Given the description of an element on the screen output the (x, y) to click on. 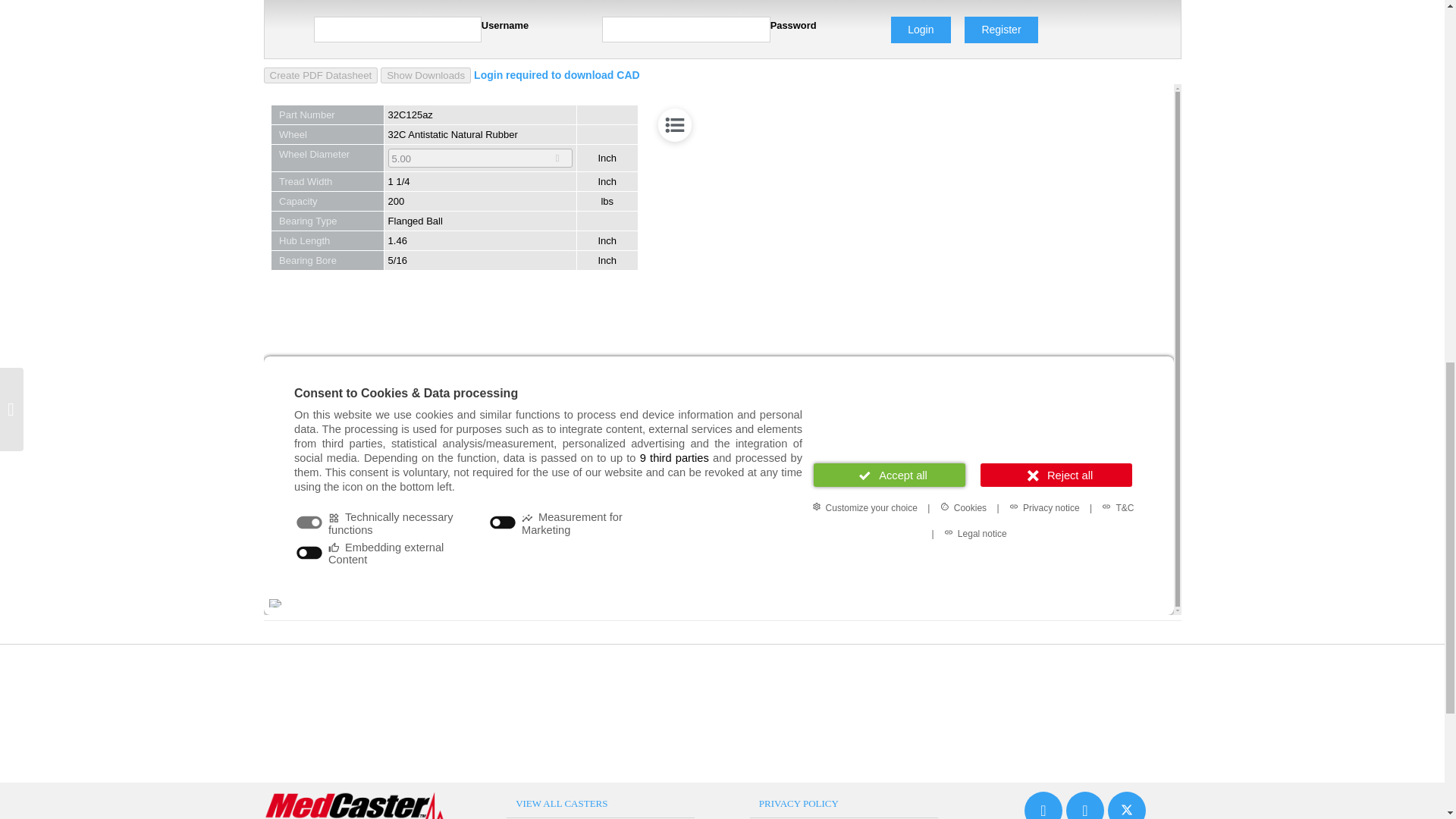
Create PDF Datasheet (320, 75)
Facebook (1084, 805)
Mail (1043, 805)
Show Downloads (425, 75)
Twitter (1126, 805)
